Given the description of an element on the screen output the (x, y) to click on. 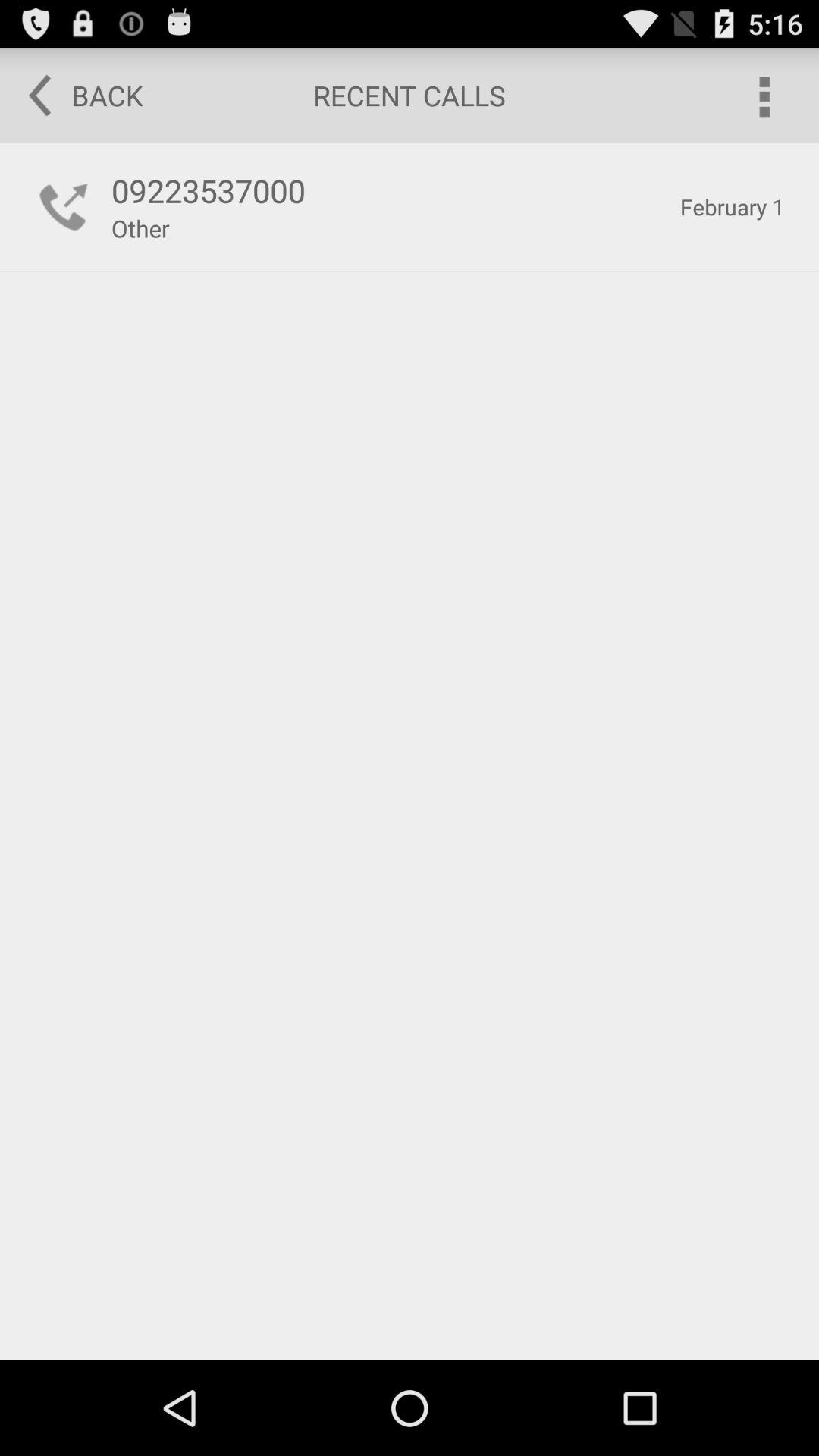
turn off button below the back button (387, 190)
